Given the description of an element on the screen output the (x, y) to click on. 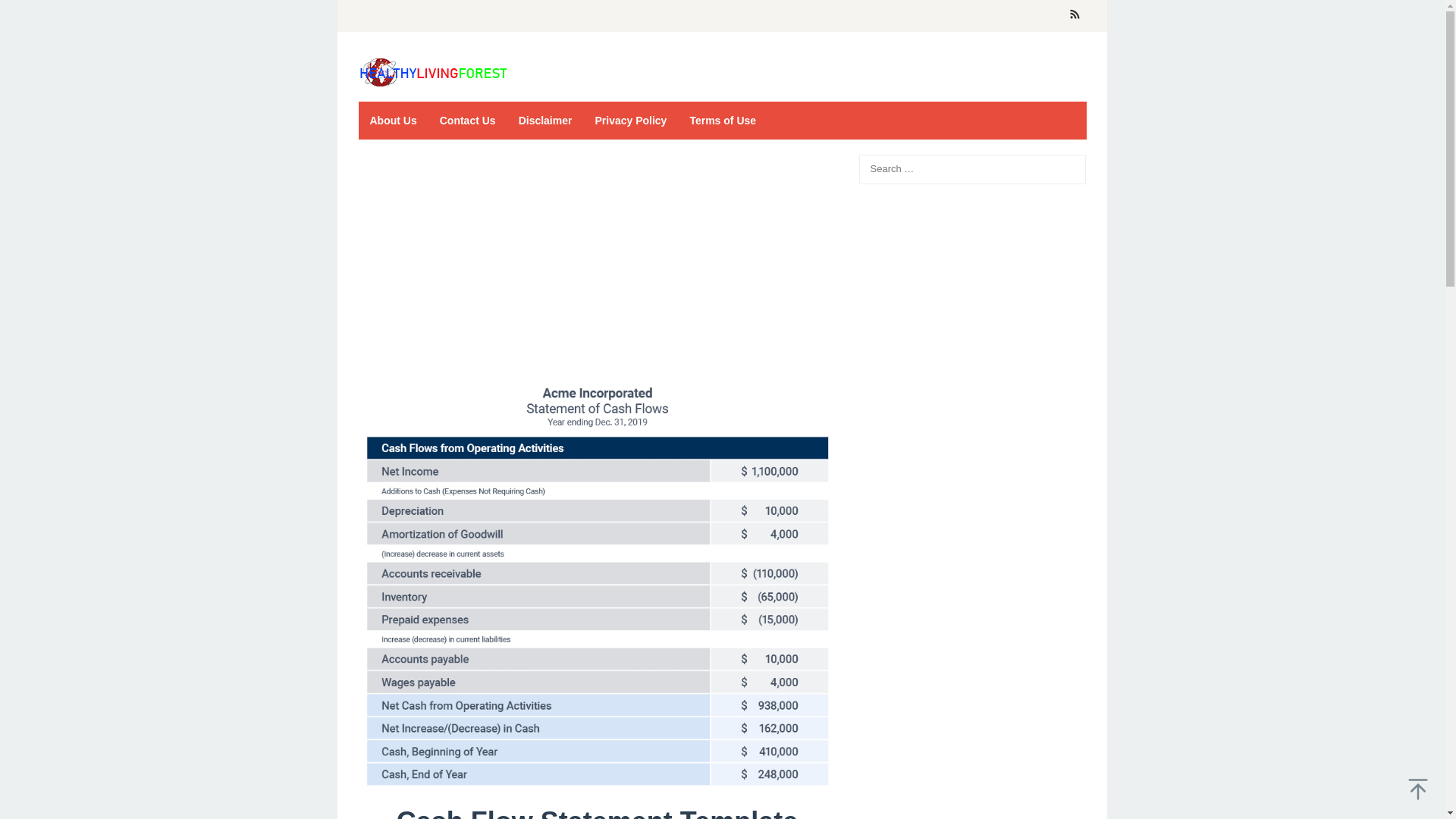
About Us (393, 120)
Terms of Use (722, 120)
Disclaimer (544, 120)
Advertisement (596, 266)
Contact Us (467, 120)
Professional Template Ideas (433, 72)
Professional Template Ideas (433, 71)
Privacy Policy (630, 120)
Search (26, 14)
